Given the description of an element on the screen output the (x, y) to click on. 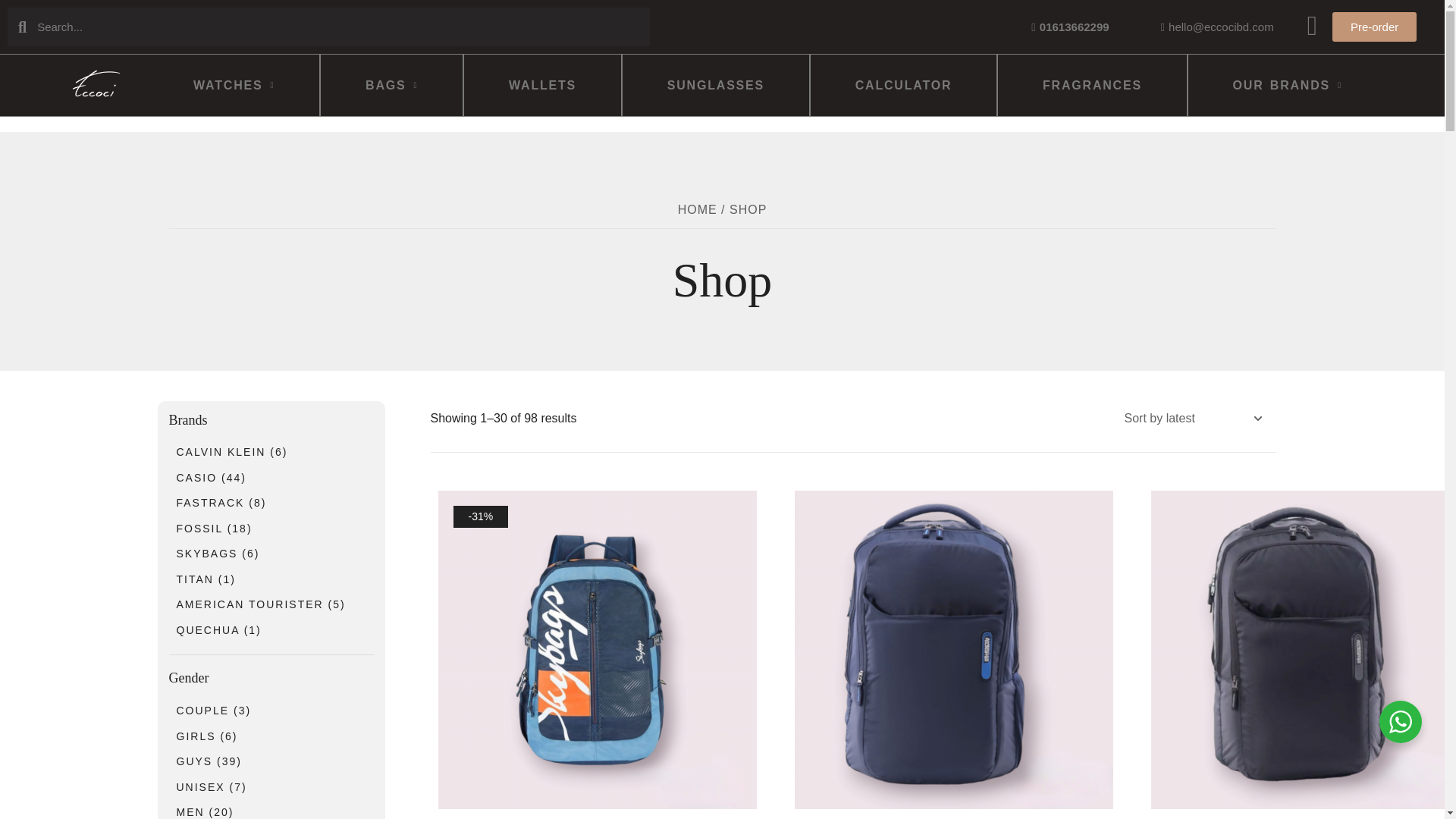
Pre-order (1374, 26)
01613662299 (1069, 27)
WATCHES (233, 48)
SUNGLASSES (716, 84)
OUR BRANDS (1287, 85)
FRAGRANCES (1091, 85)
WALLETS (542, 84)
BAGS (391, 82)
CALCULATOR (902, 84)
